Given the description of an element on the screen output the (x, y) to click on. 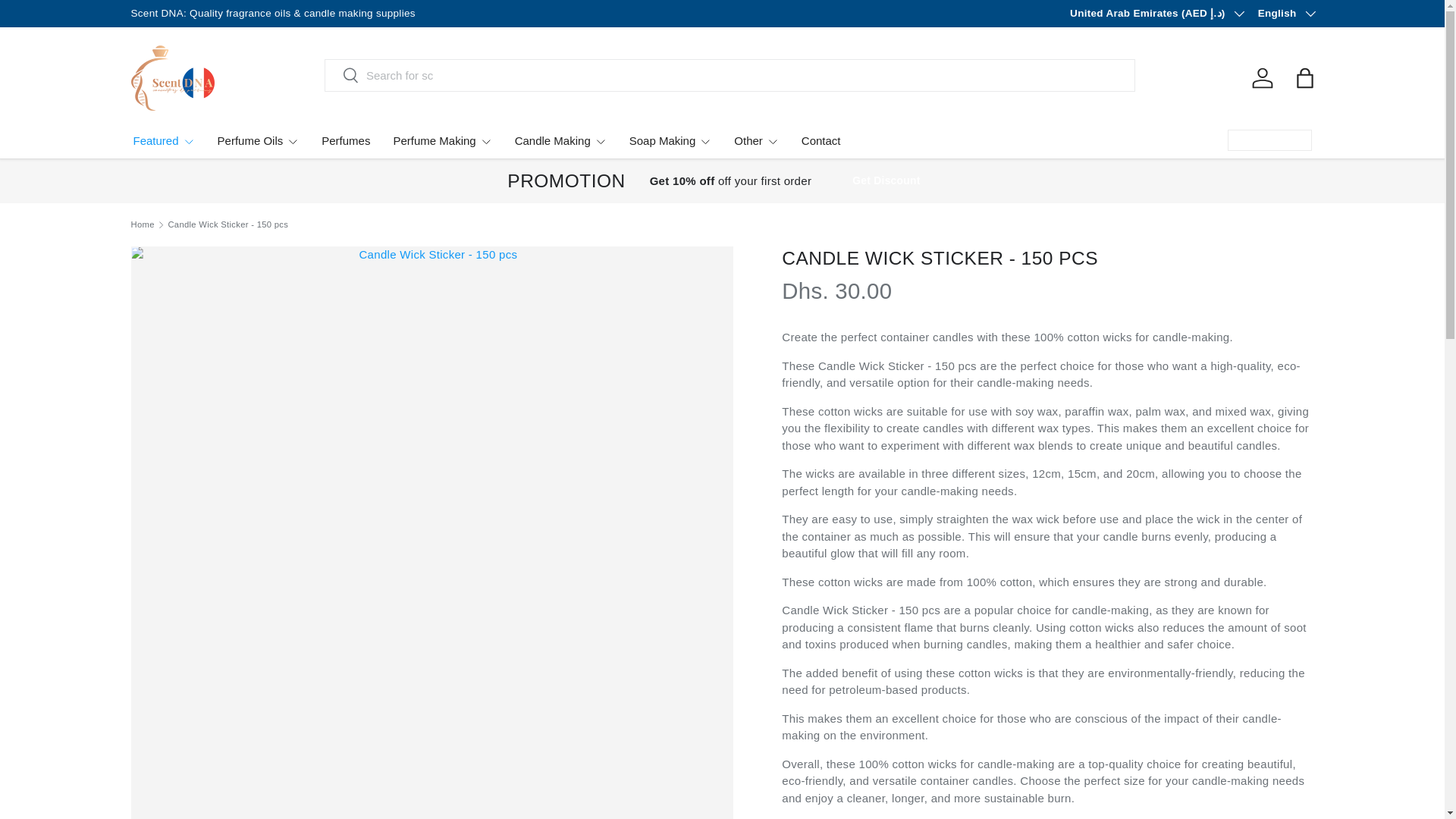
Skip to content (64, 21)
Perfume Making (442, 140)
Log in (1261, 78)
Bag (1303, 78)
English (1285, 13)
Candle Making (561, 140)
Perfumes (345, 140)
Search (341, 76)
Featured (164, 140)
Perfume Oils (257, 140)
